Given the description of an element on the screen output the (x, y) to click on. 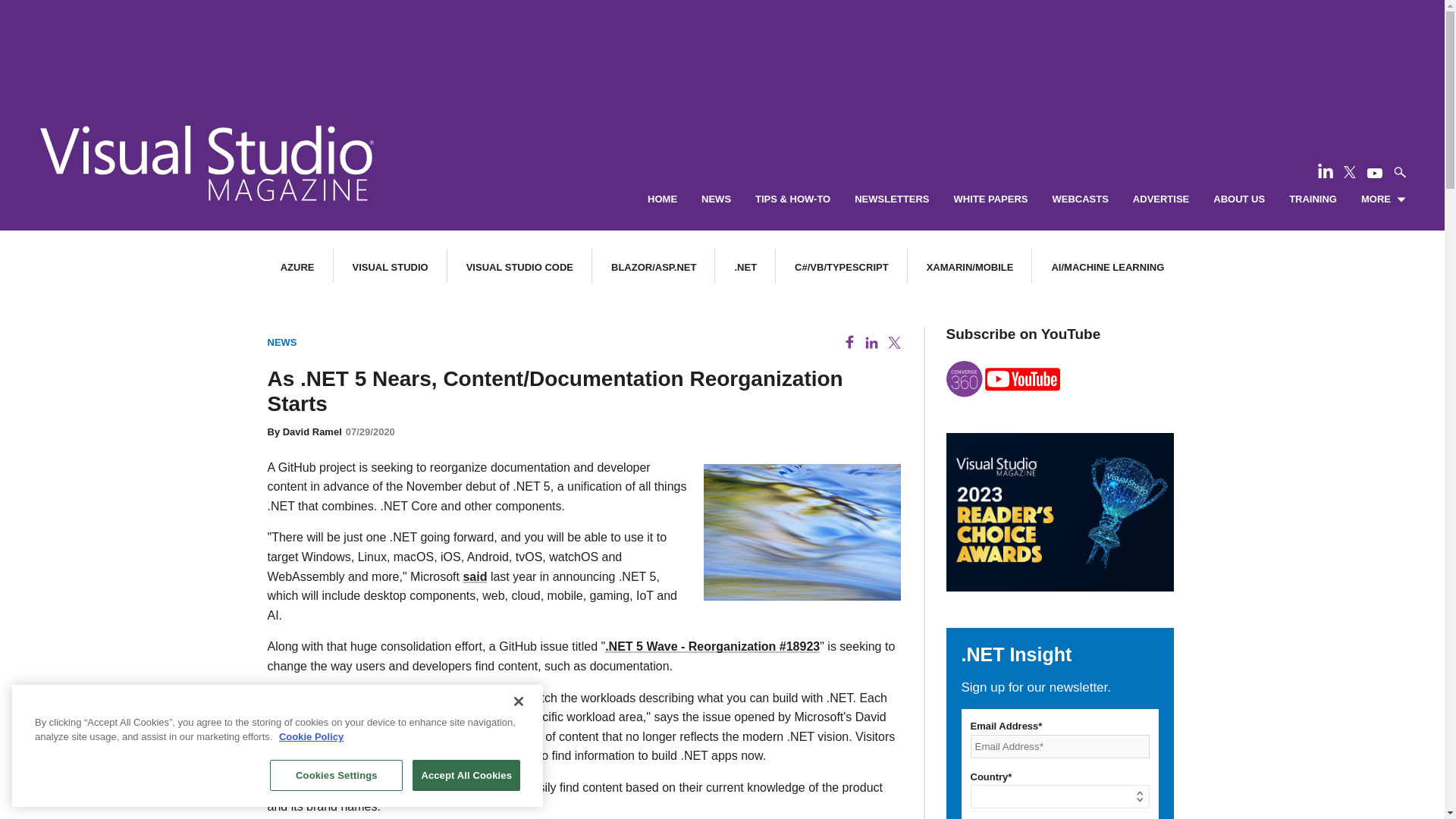
HOME (662, 199)
WHITE PAPERS (990, 199)
AZURE (297, 266)
3rd party ad content (721, 45)
NEWS (715, 199)
WEBCASTS (1079, 199)
VISUAL STUDIO (390, 266)
NEWSLETTERS (891, 199)
MORE (1383, 199)
TRAINING (1312, 199)
